Given the description of an element on the screen output the (x, y) to click on. 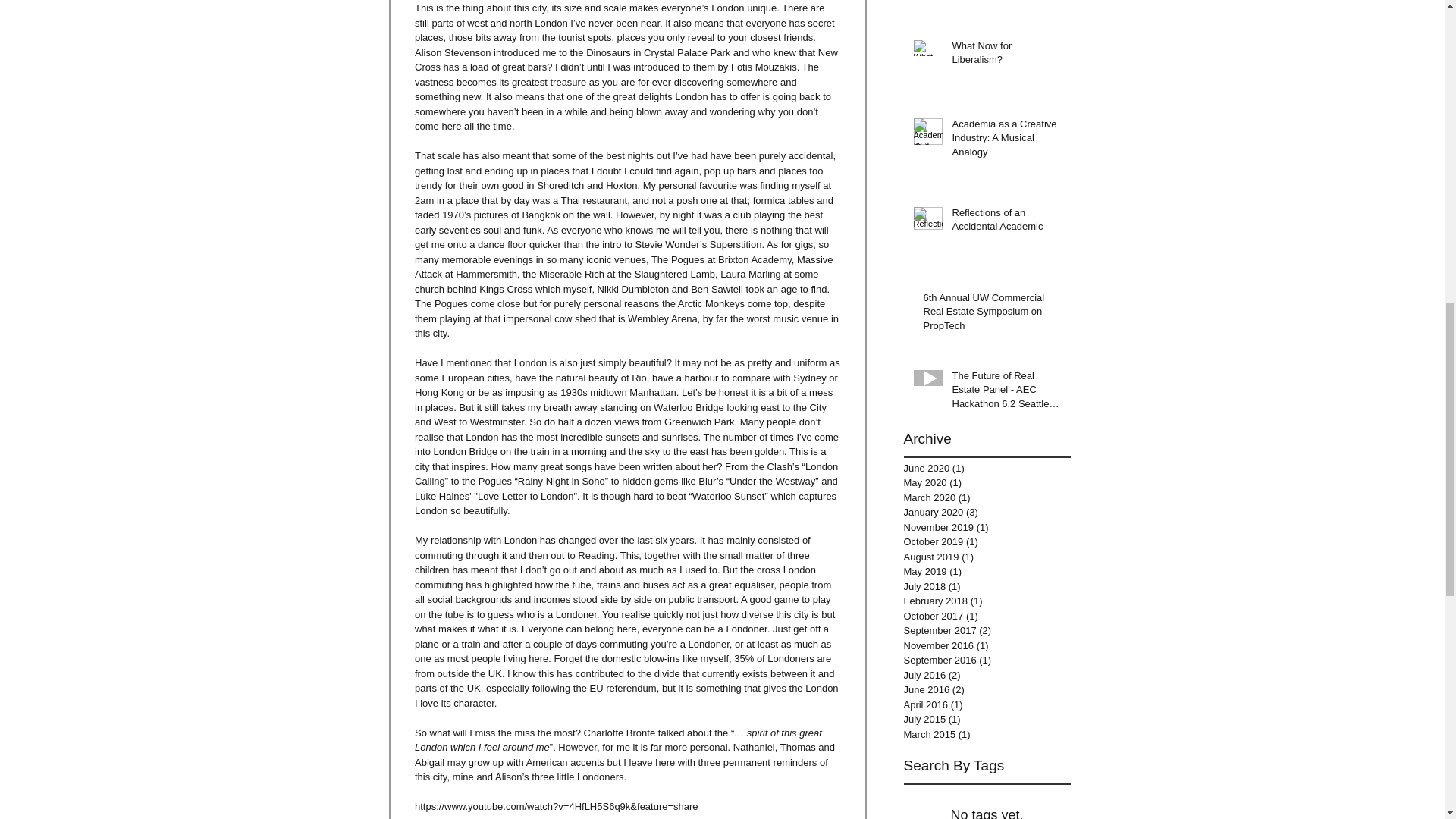
Academia as a Creative Industry: A Musical Analogy (1006, 141)
What Now for Liberalism? (1006, 55)
Reflections of an Accidental Academic (1006, 222)
6th Annual UW Commercial Real Estate Symposium on PropTech (992, 315)
